Given the description of an element on the screen output the (x, y) to click on. 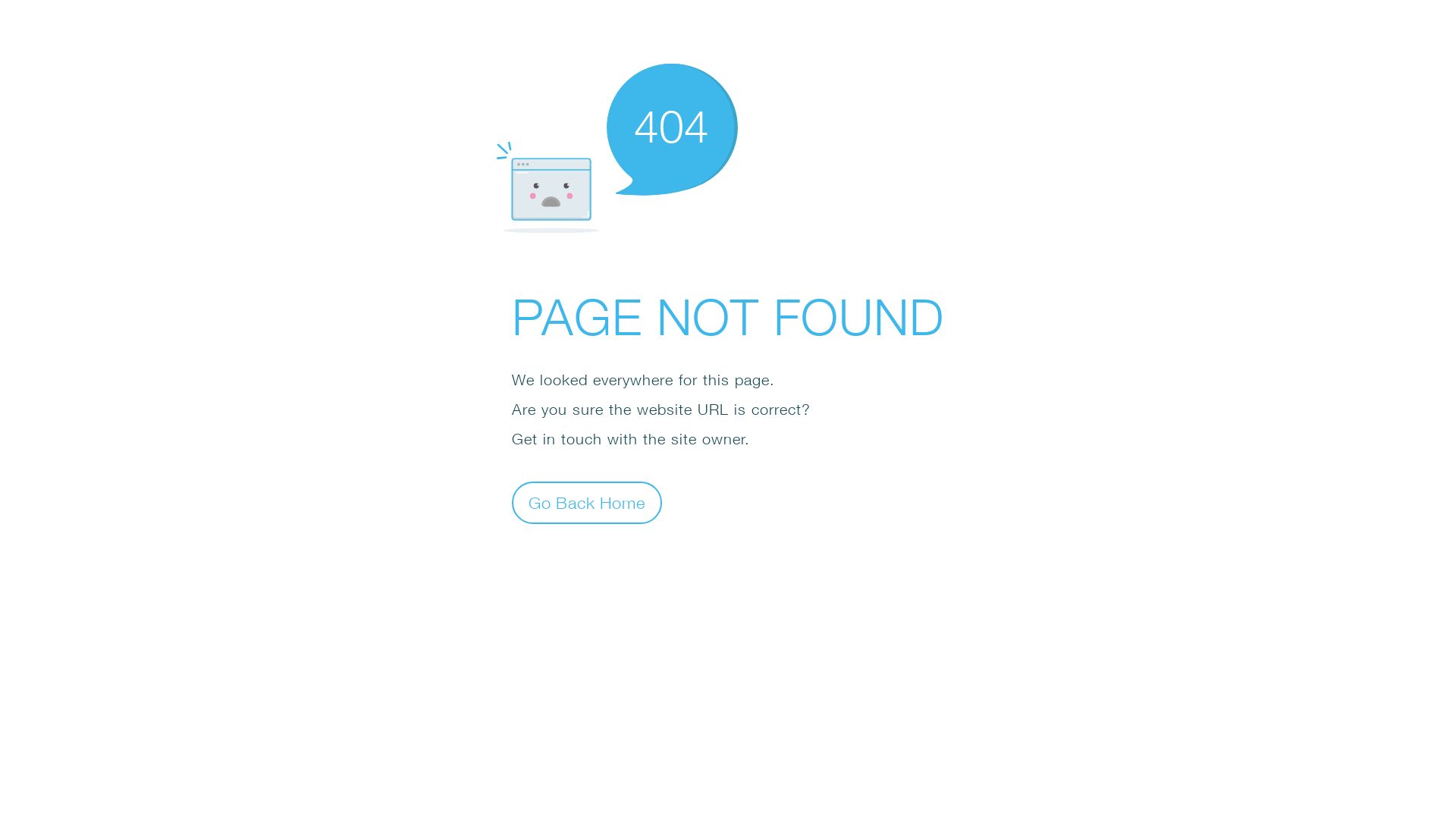
Go Back Home Element type: text (586, 502)
